Given the description of an element on the screen output the (x, y) to click on. 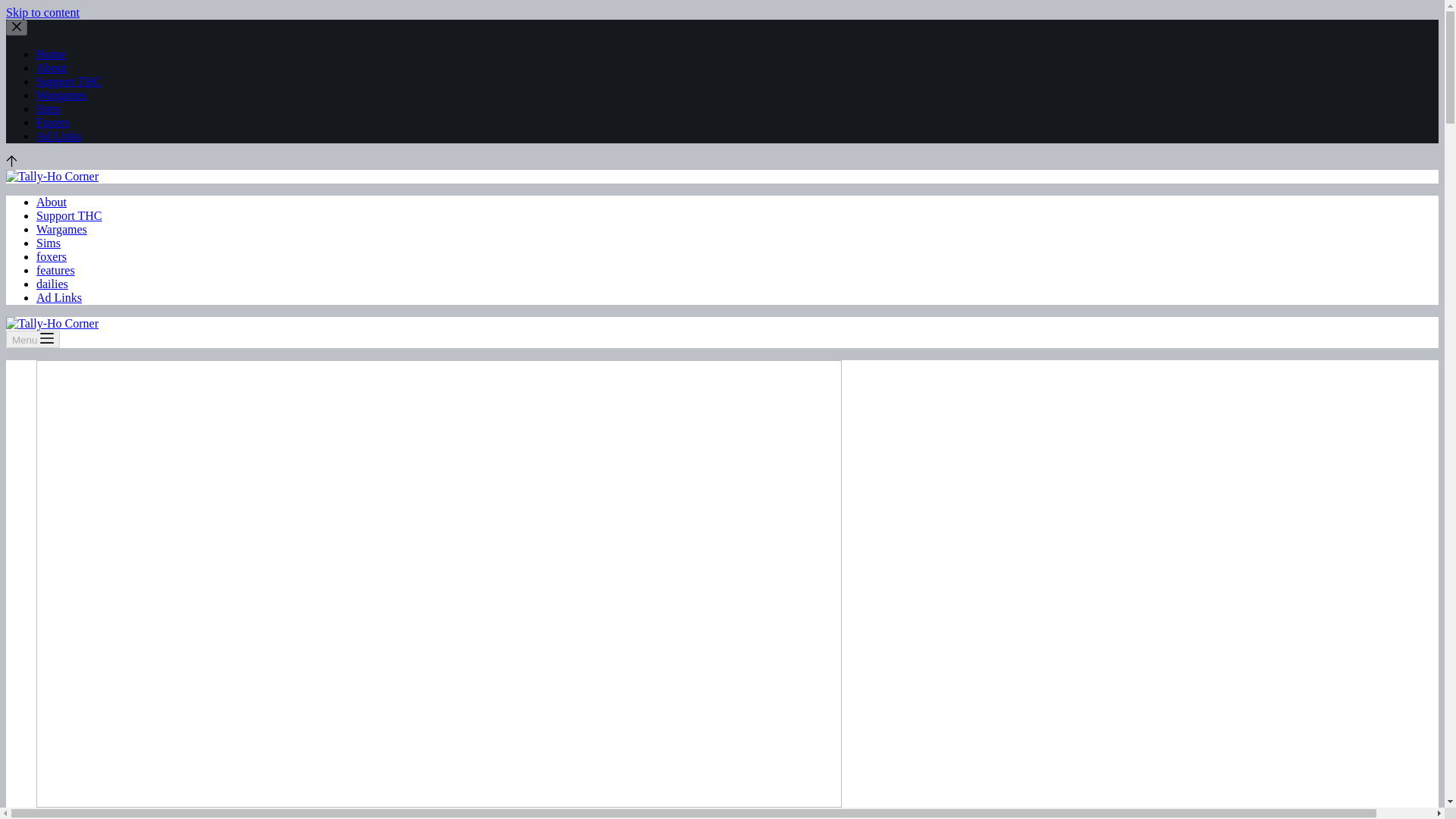
Wargames (61, 228)
Support THC (68, 215)
Skip to content (42, 11)
Ad Links (58, 297)
Support THC (68, 81)
Menu (32, 339)
Foxers (52, 122)
Wargames (61, 94)
About (51, 201)
dailies (52, 283)
